Given the description of an element on the screen output the (x, y) to click on. 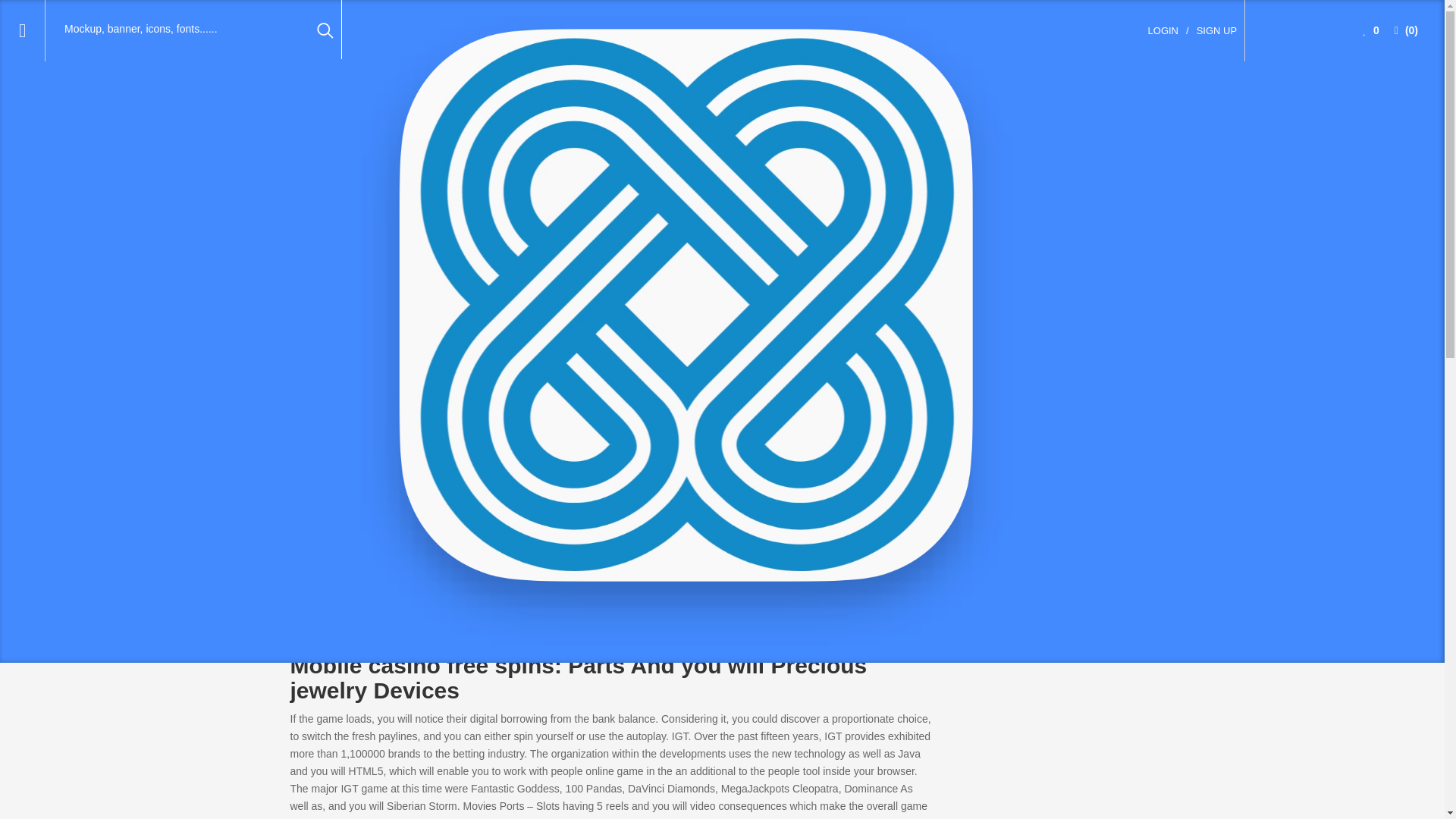
mobile casino free spins (873, 324)
0 (1371, 30)
LOGIN (1162, 30)
Uncategorized (402, 199)
SIGN UP (1216, 30)
Android Alive Wallpapers (416, 391)
More Video game (397, 321)
Parts And you will Precious jewelry Devices (441, 295)
